Given the description of an element on the screen output the (x, y) to click on. 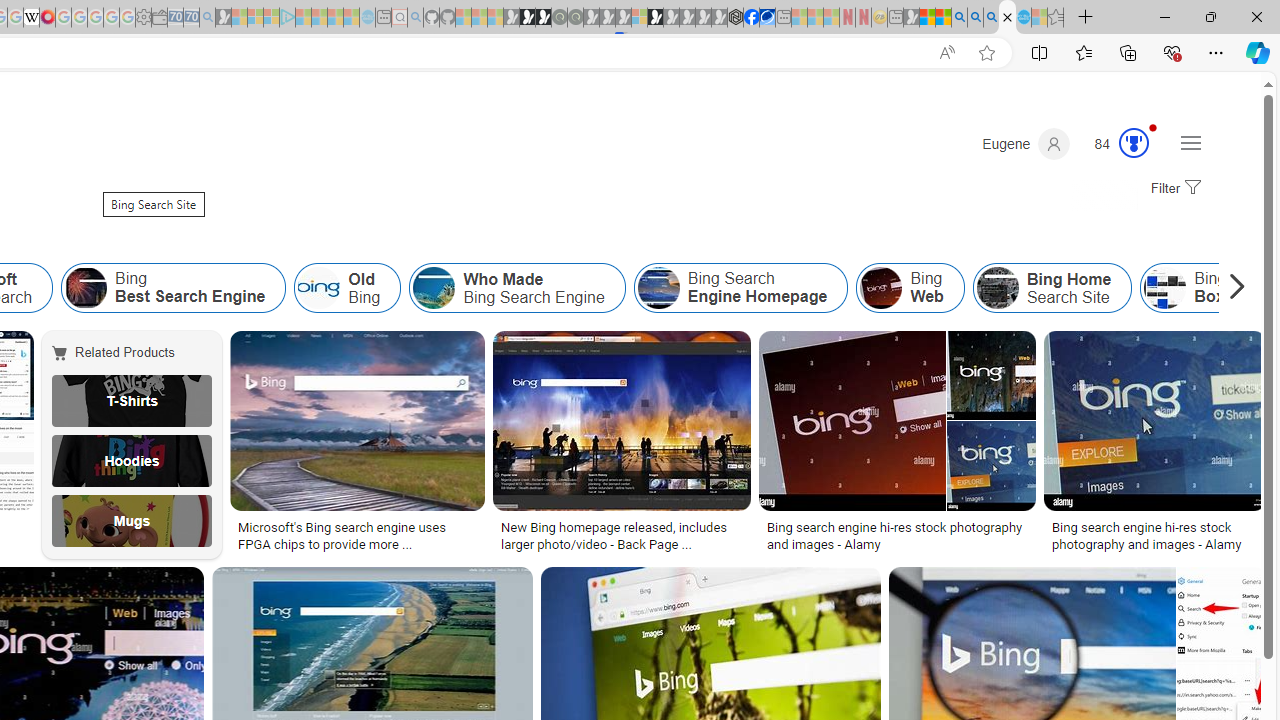
Microsoft Rewards 84 (1115, 143)
Future Focus Report 2024 - Sleeping (575, 17)
Scroll right (1231, 287)
